Given the description of an element on the screen output the (x, y) to click on. 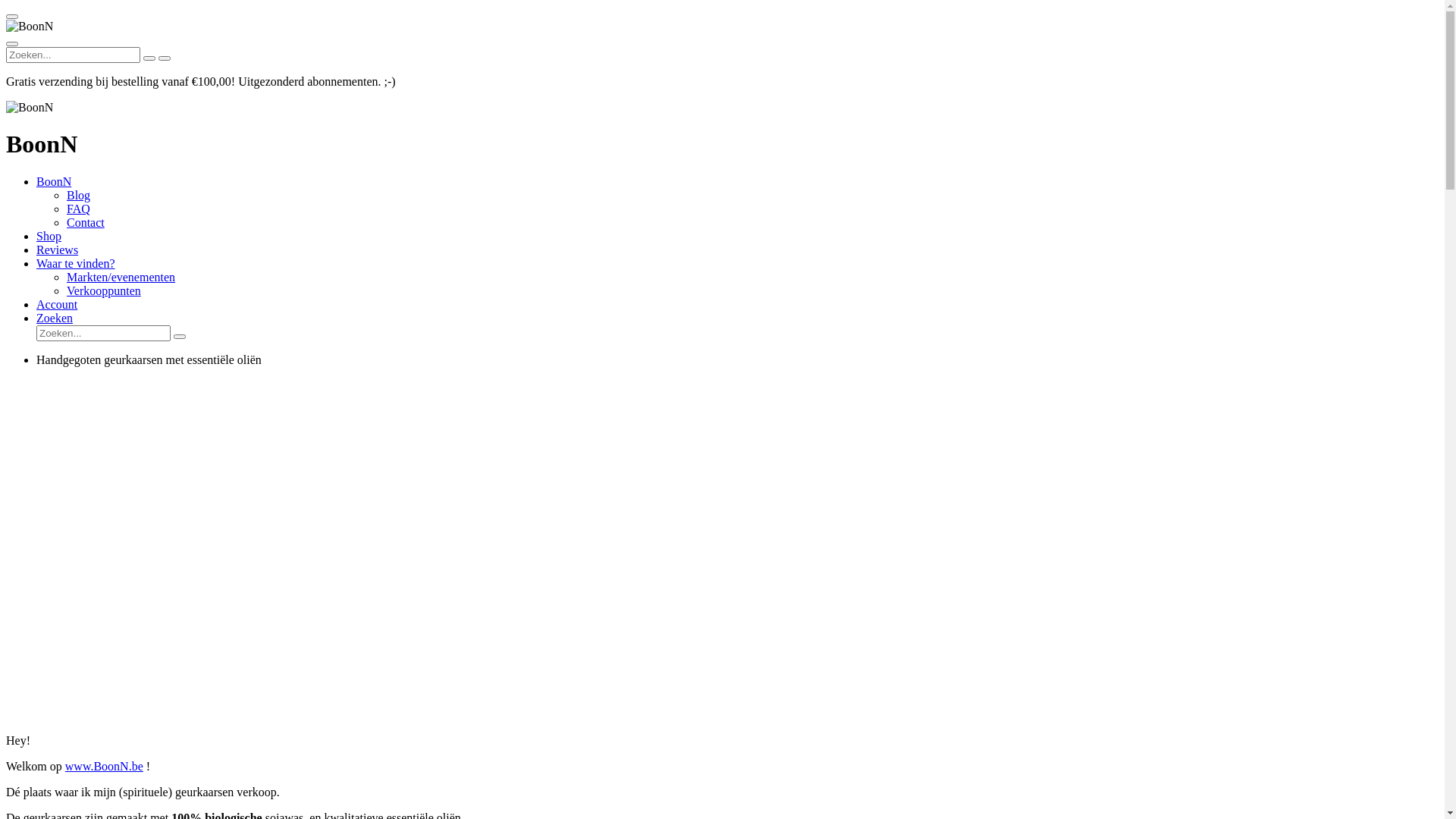
Contact Element type: text (85, 222)
Account Element type: text (56, 304)
Markten/evenementen Element type: text (120, 276)
Shop Element type: text (48, 235)
FAQ Element type: text (78, 208)
BoonN Element type: text (53, 181)
BoonN Element type: hover (29, 107)
Blog Element type: text (78, 194)
Waar te vinden? Element type: text (75, 263)
BoonN Element type: hover (29, 26)
Zoeken Element type: text (54, 317)
www.BoonN.be Element type: text (104, 765)
Verkooppunten Element type: text (103, 290)
Reviews Element type: text (57, 249)
